Given the description of an element on the screen output the (x, y) to click on. 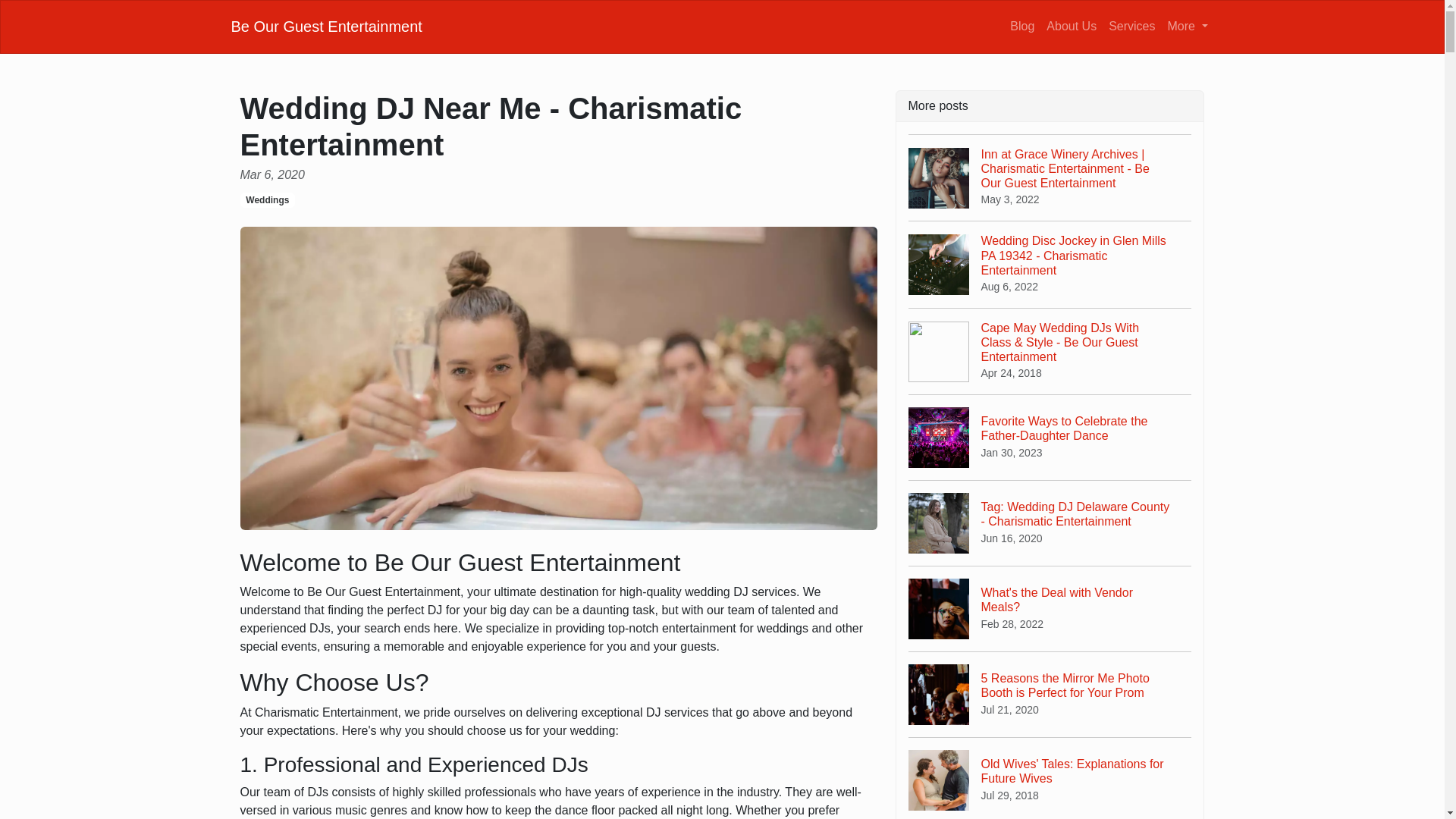
Services (1131, 26)
Be Our Guest Entertainment (326, 26)
Blog (1050, 608)
More (1050, 778)
Weddings (1022, 26)
About Us (1187, 26)
